Given the description of an element on the screen output the (x, y) to click on. 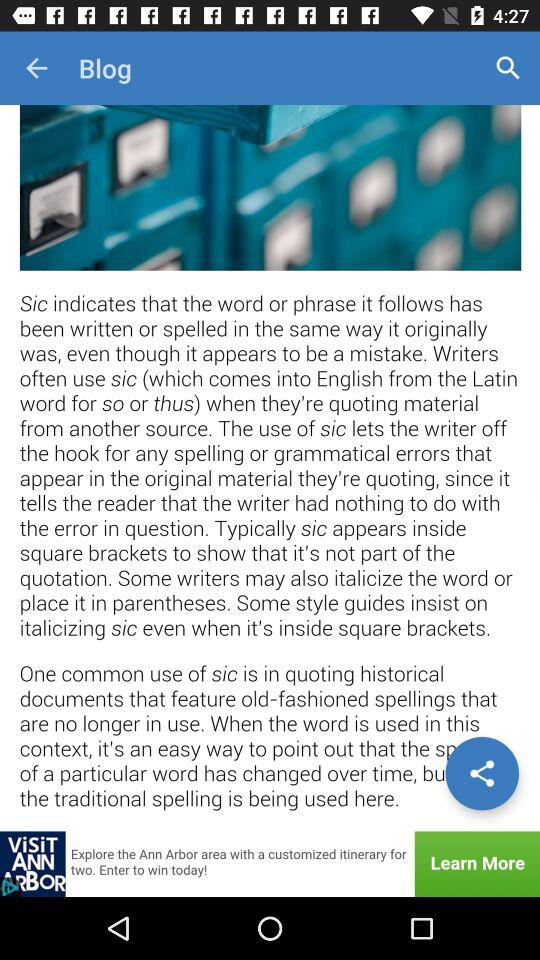
explore the advertisement (270, 864)
